Given the description of an element on the screen output the (x, y) to click on. 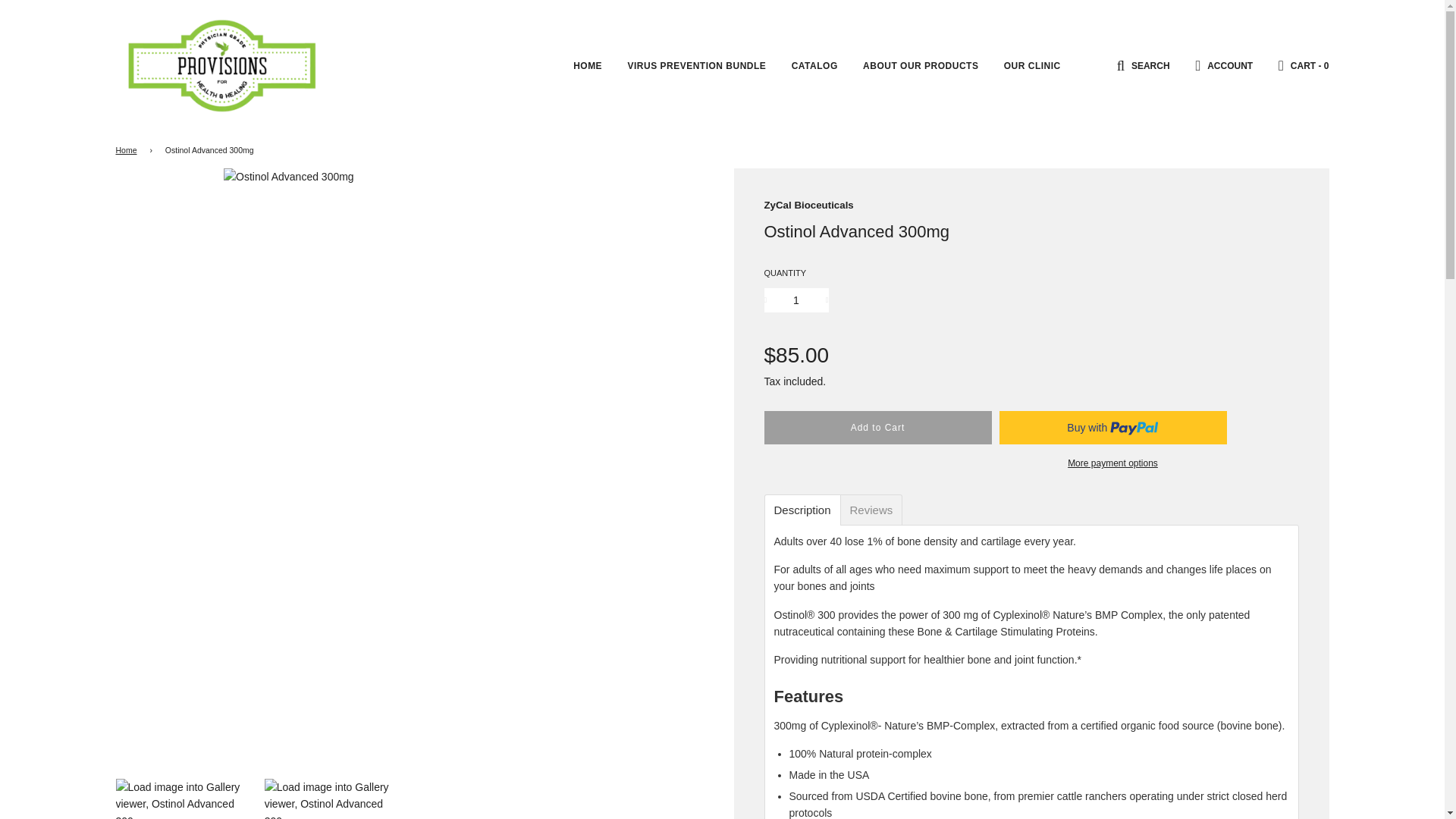
1 (796, 300)
Description (801, 509)
Back to the frontpage (128, 150)
Add to Cart (877, 427)
Reviews (871, 509)
CATALOG (814, 65)
Log in (1223, 64)
VIRUS PREVENTION BUNDLE (696, 65)
CART - 0 (1302, 64)
SEARCH (1143, 64)
ZyCal Bioceuticals (808, 204)
ABOUT OUR PRODUCTS (920, 65)
ZyCal Bioceuticals (808, 204)
More payment options (1112, 463)
Home (128, 150)
